Given the description of an element on the screen output the (x, y) to click on. 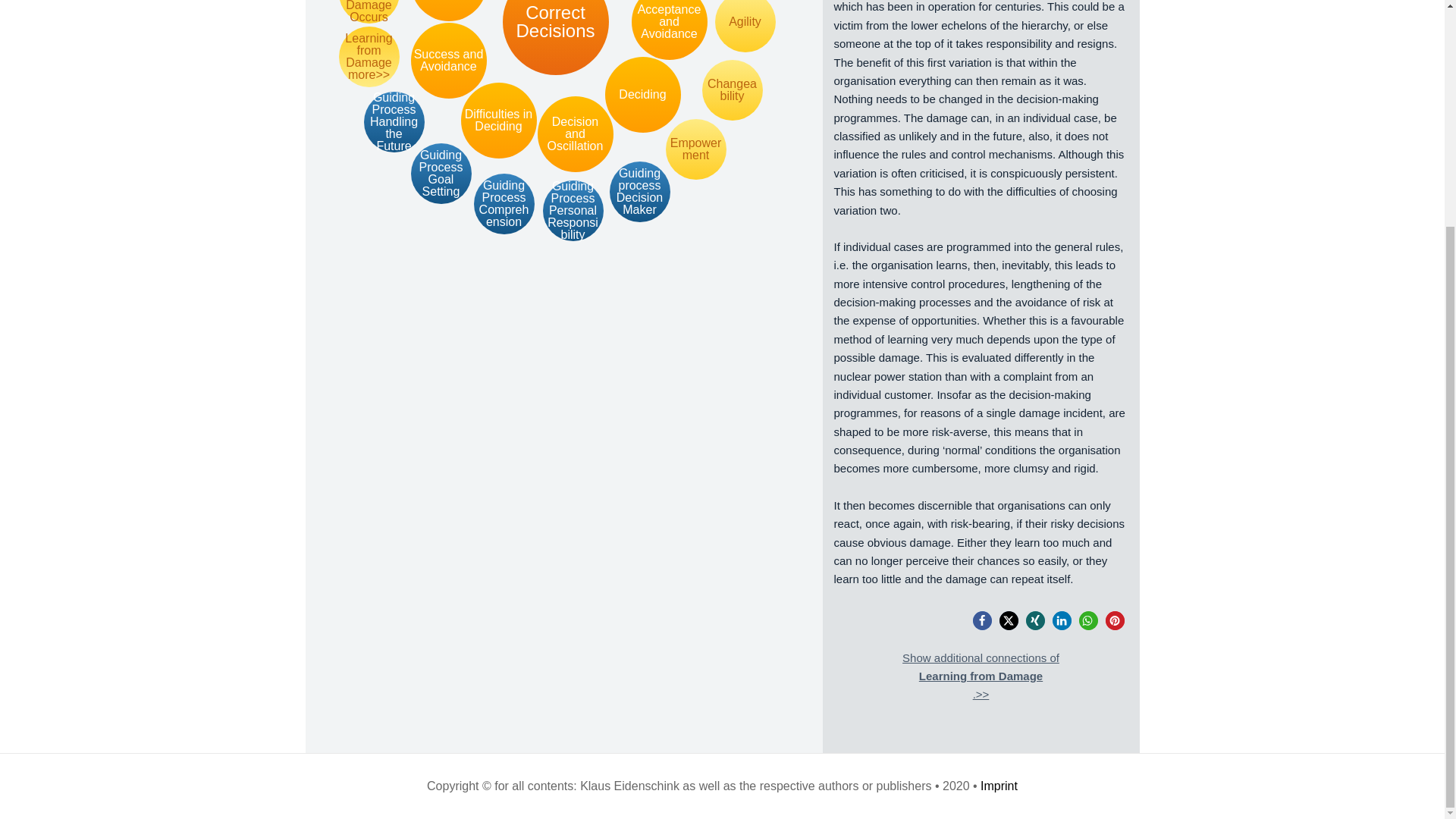
Agility (744, 26)
Changeability (731, 89)
Empowerment (695, 148)
Guiding Process Personal Responsibility (573, 210)
Correct Decisions (555, 37)
Acceptance and Avoidance (668, 29)
Guiding process Decision Maker (639, 191)
